Given the description of an element on the screen output the (x, y) to click on. 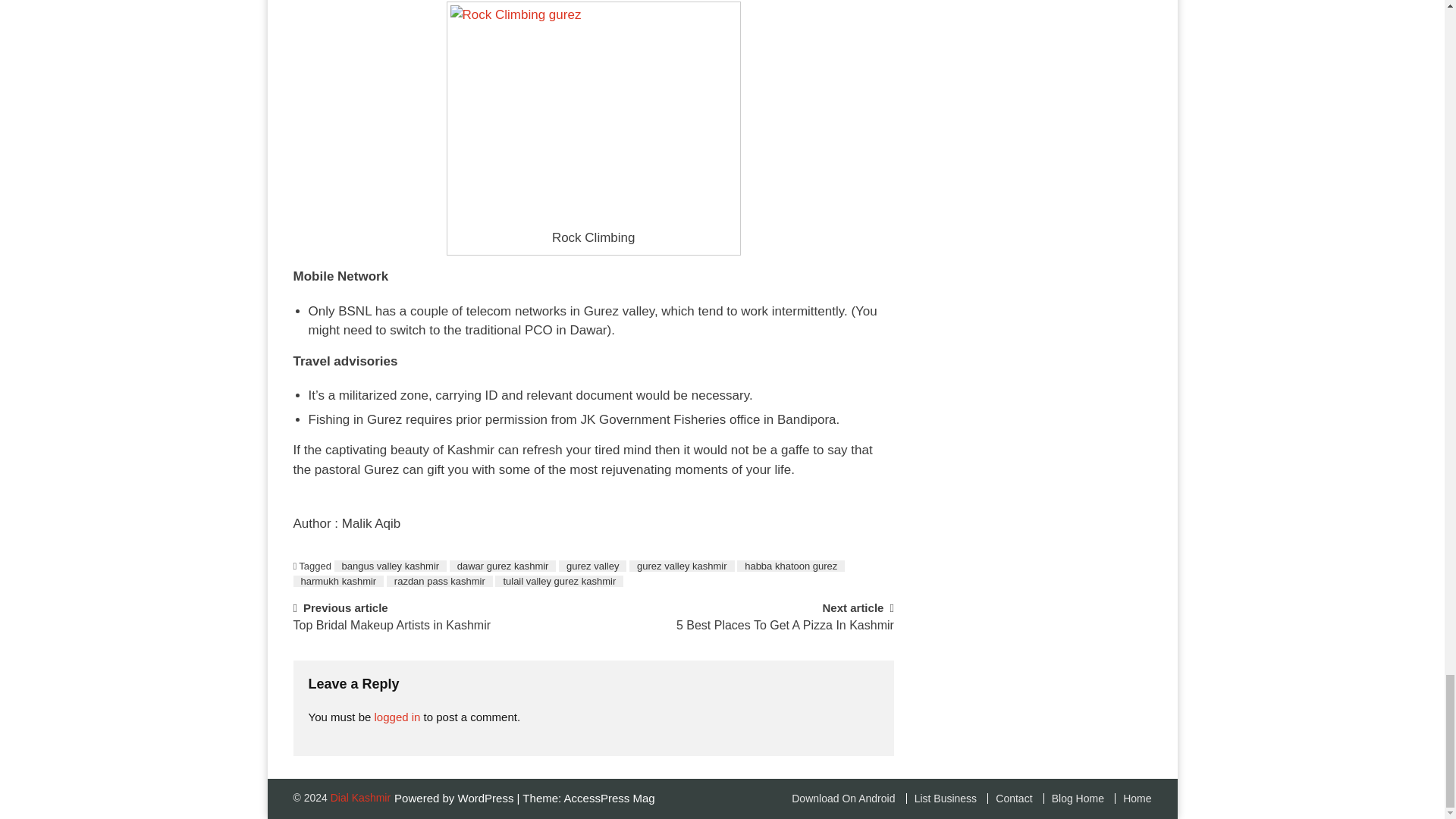
AccessPress Themes (609, 797)
